Given the description of an element on the screen output the (x, y) to click on. 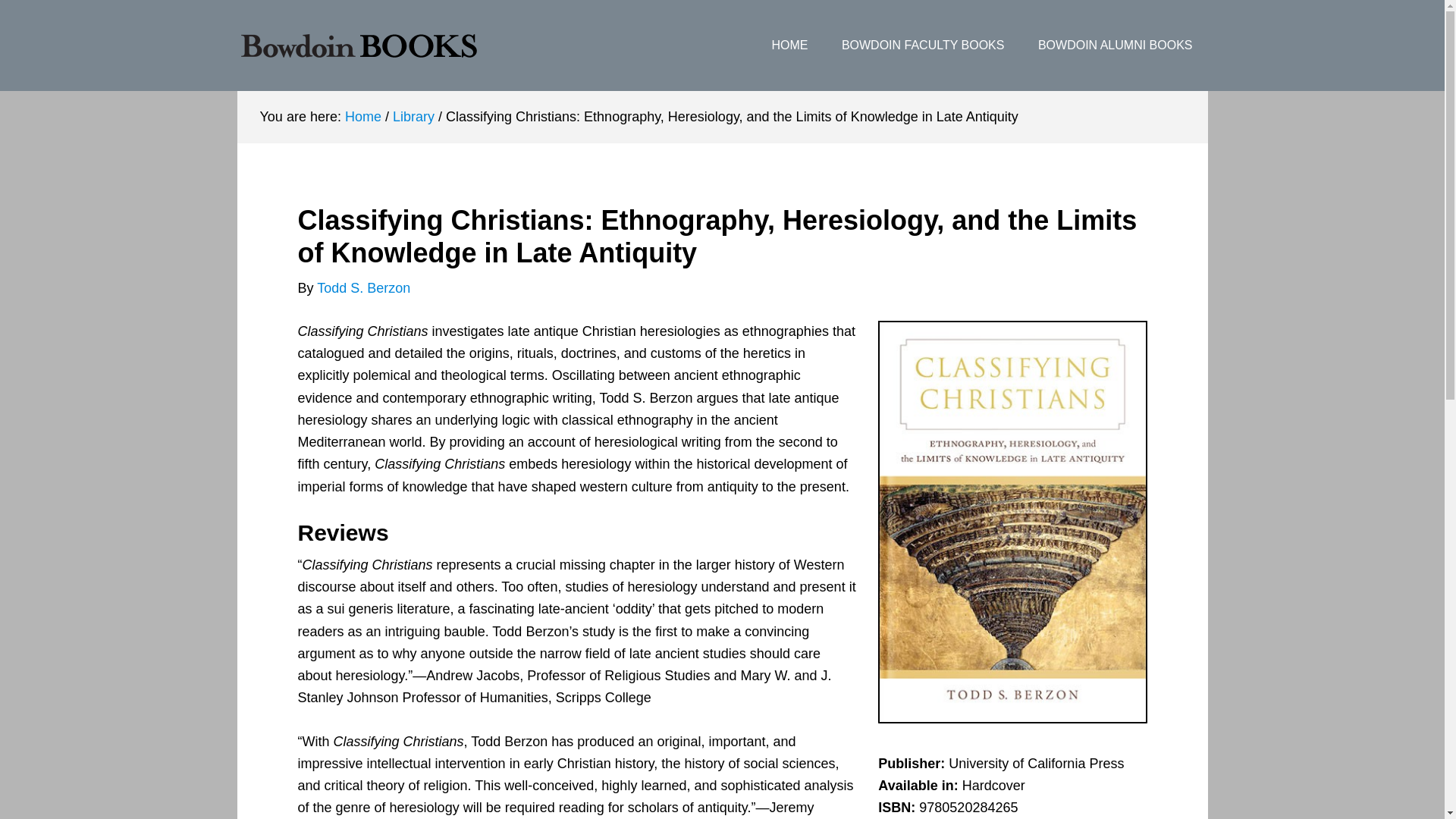
Library (413, 116)
Todd S. Berzon (363, 287)
BOWDOIN ALUMNI BOOKS (1115, 45)
Home (363, 116)
BOWDOIN FACULTY BOOKS (923, 45)
Bowdoin Books (357, 45)
